Given the description of an element on the screen output the (x, y) to click on. 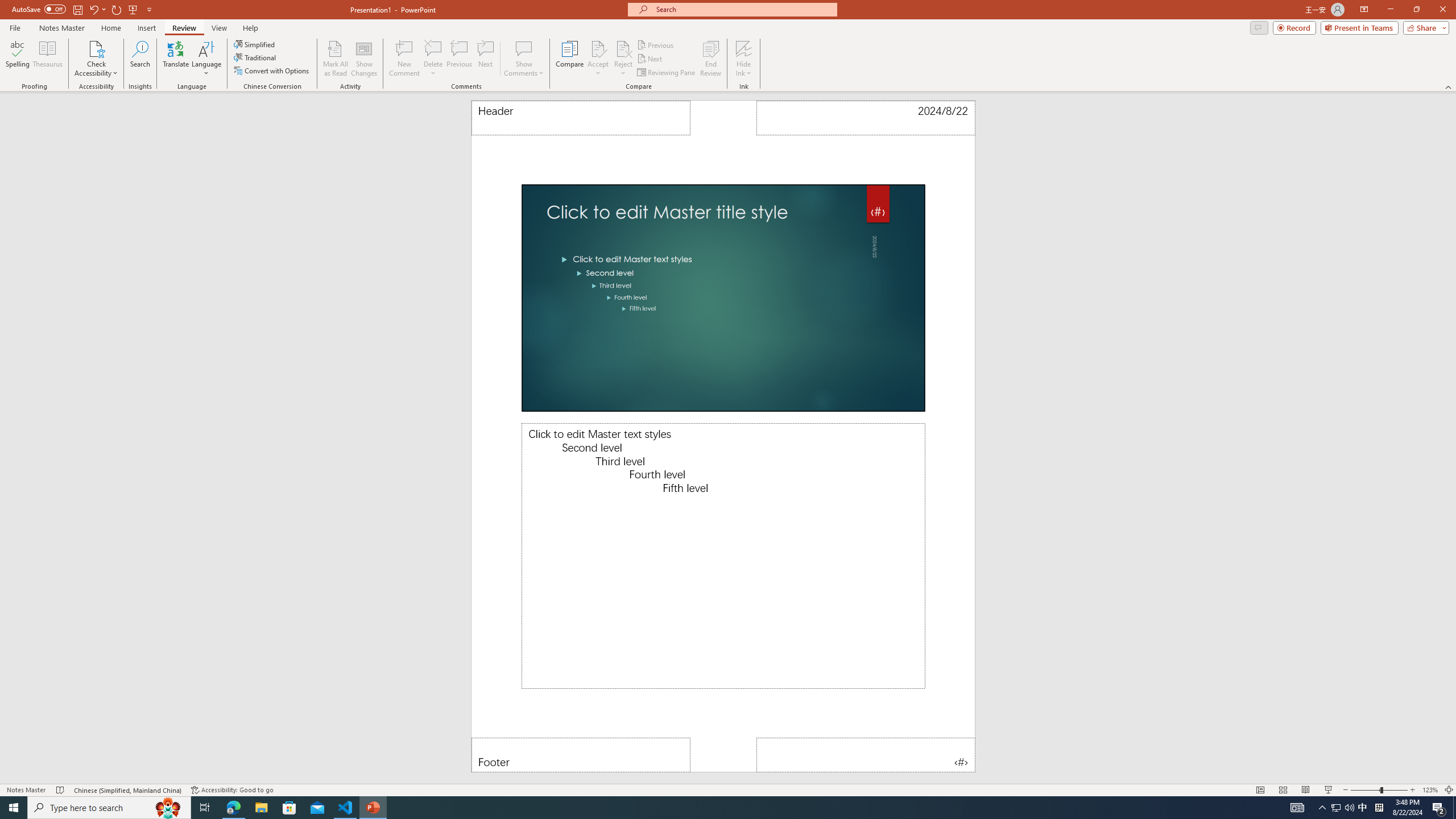
Footer (580, 754)
Thesaurus... (47, 58)
Header (580, 117)
Date (866, 117)
